Given the description of an element on the screen output the (x, y) to click on. 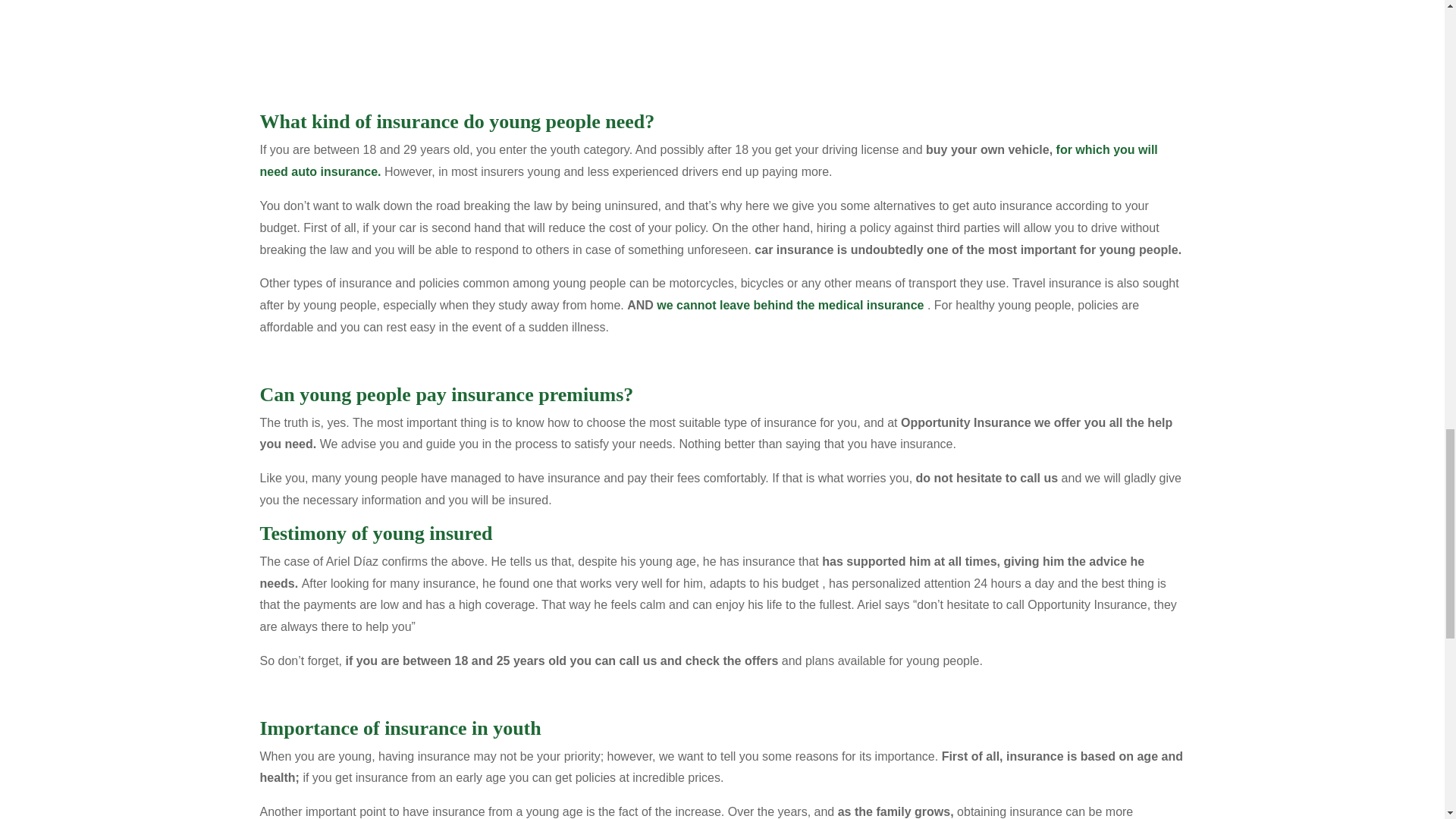
we cannot leave behind the medical insurance (789, 305)
for which you will need auto insurance. (708, 160)
